Given the description of an element on the screen output the (x, y) to click on. 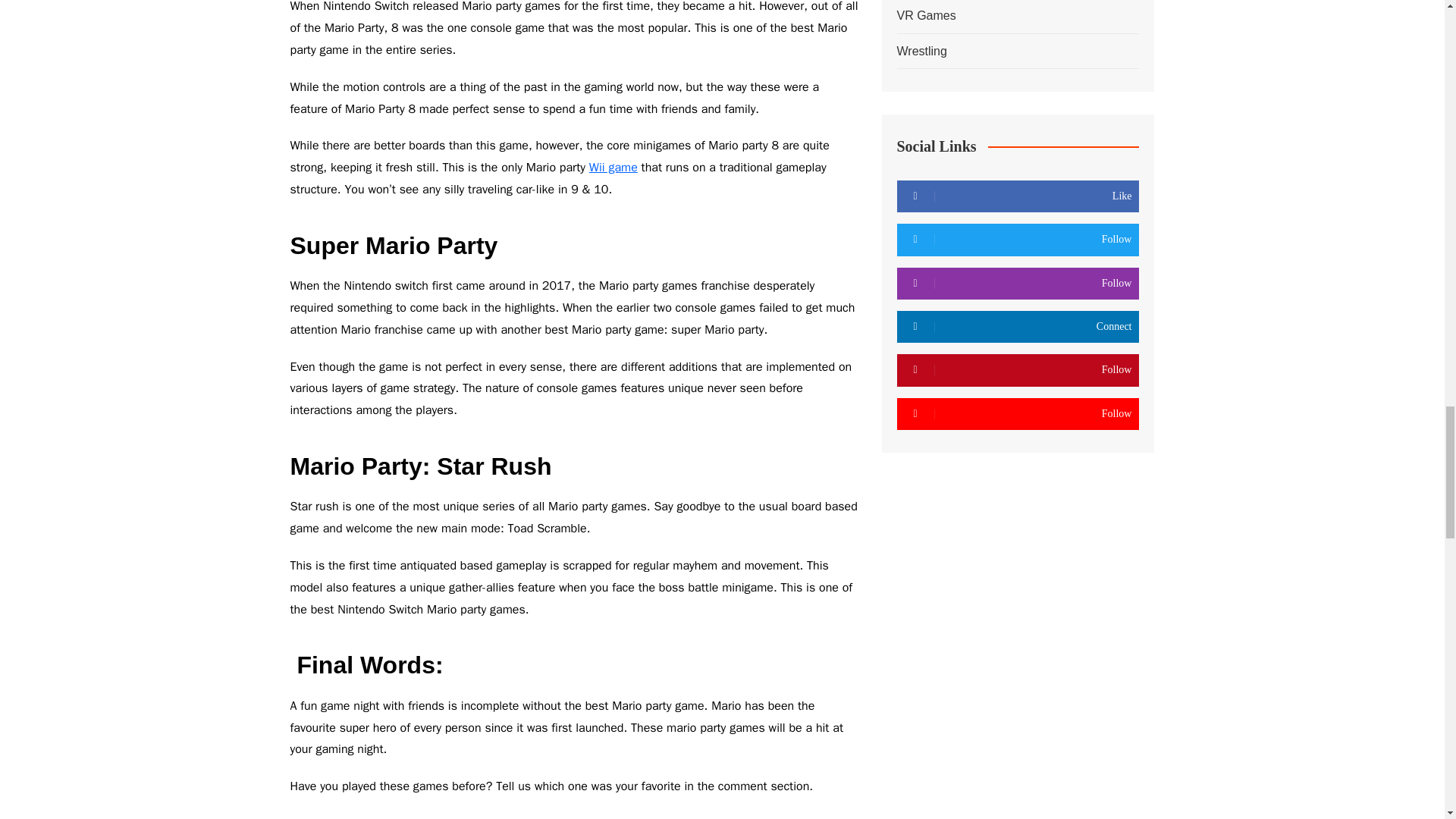
Wii game (613, 167)
